Given the description of an element on the screen output the (x, y) to click on. 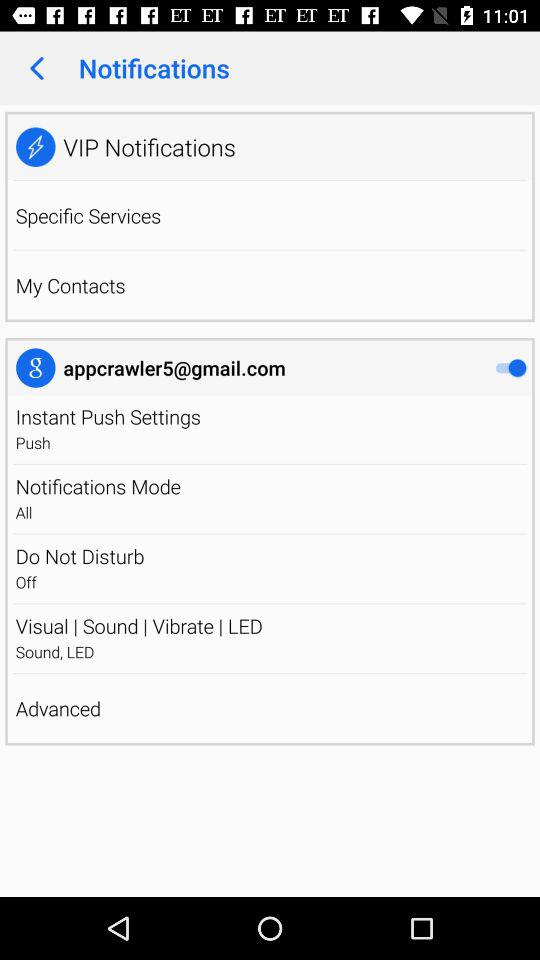
turn off the instant push settings icon (107, 416)
